Given the description of an element on the screen output the (x, y) to click on. 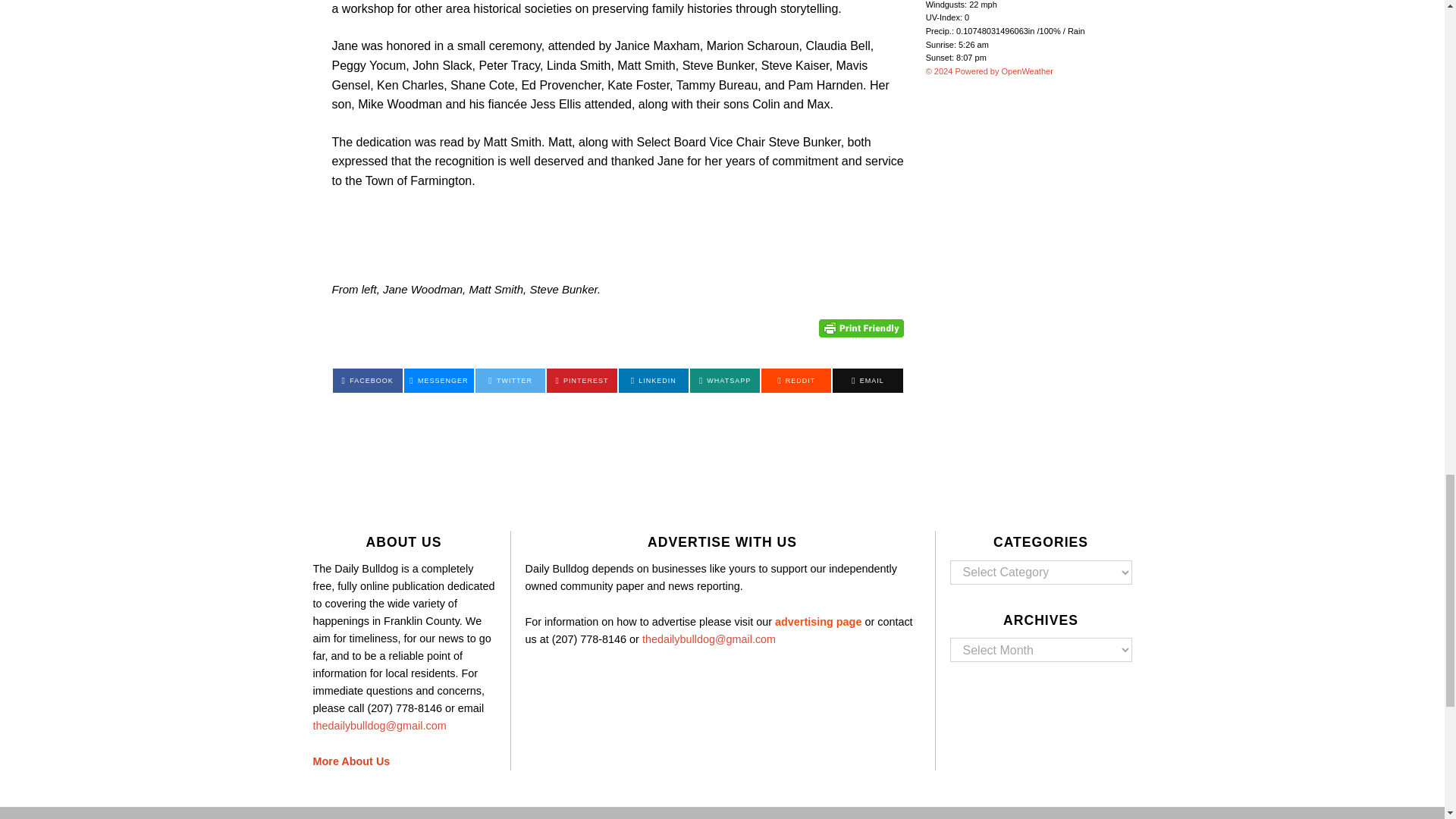
Email (867, 380)
Whatsapp (725, 380)
Reddit (796, 380)
Twitter (510, 380)
Pinterest (581, 380)
Linkedin (653, 380)
Facebook (366, 380)
Messenger (439, 380)
